Given the description of an element on the screen output the (x, y) to click on. 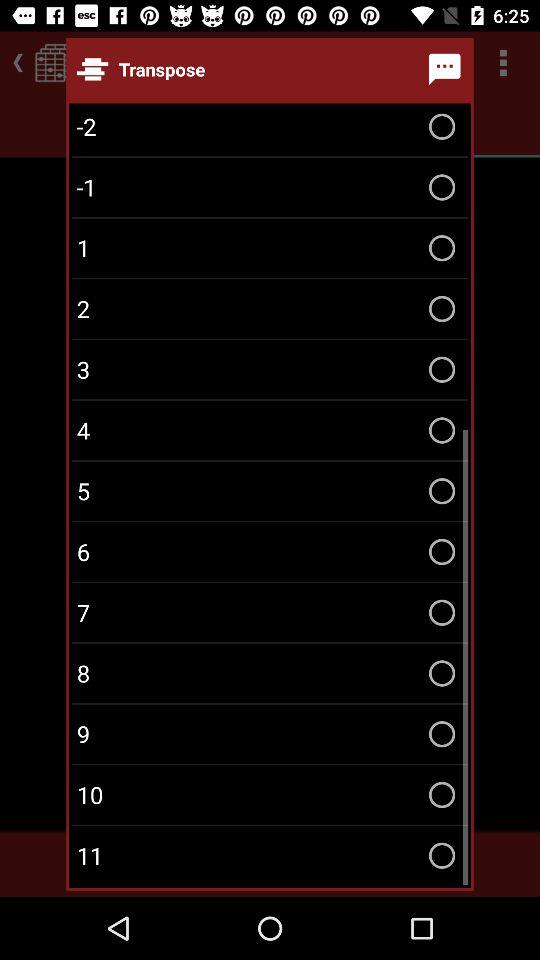
choose the item below the 9 (269, 794)
